Given the description of an element on the screen output the (x, y) to click on. 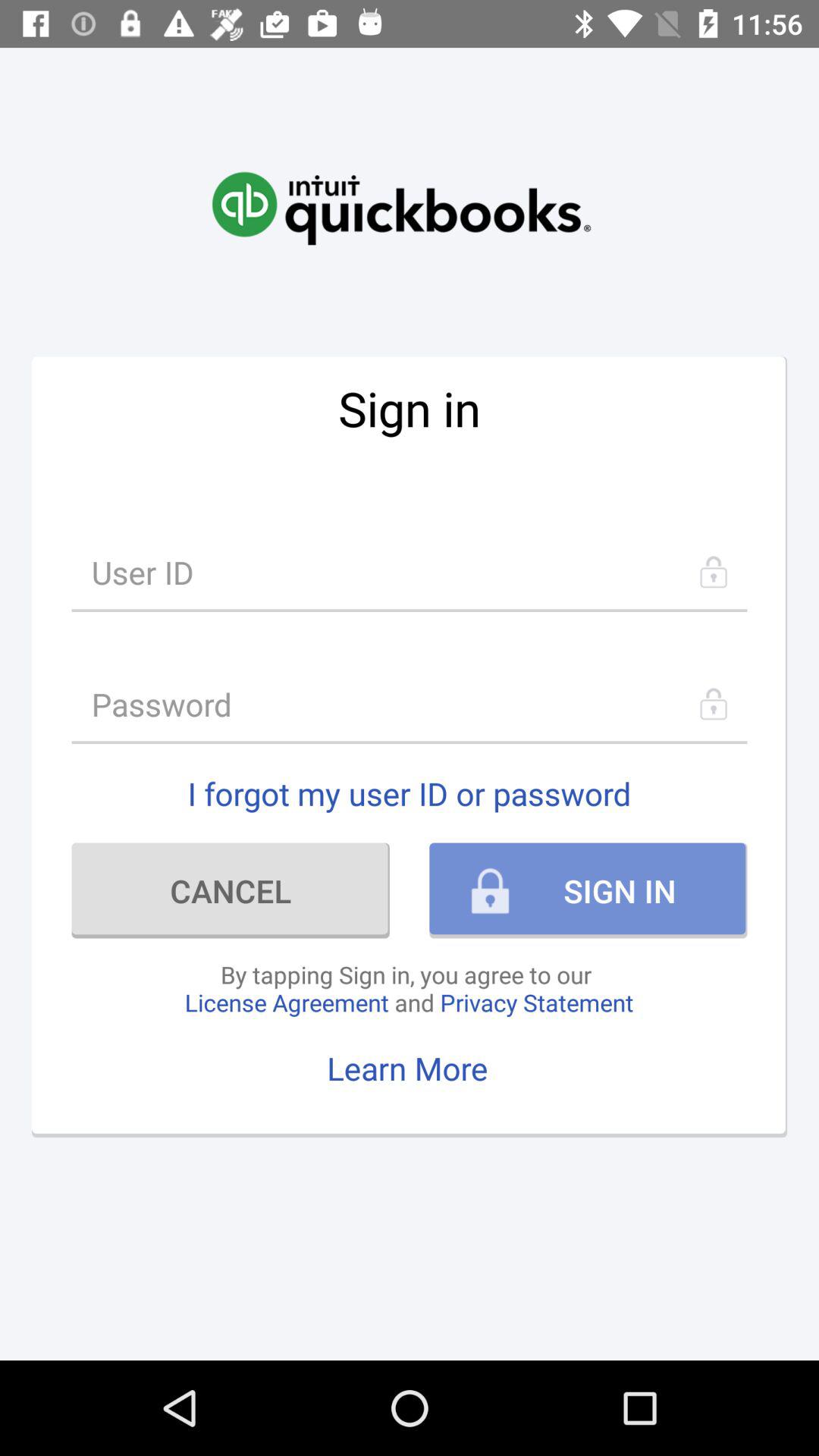
select by tapping sign item (408, 988)
